Given the description of an element on the screen output the (x, y) to click on. 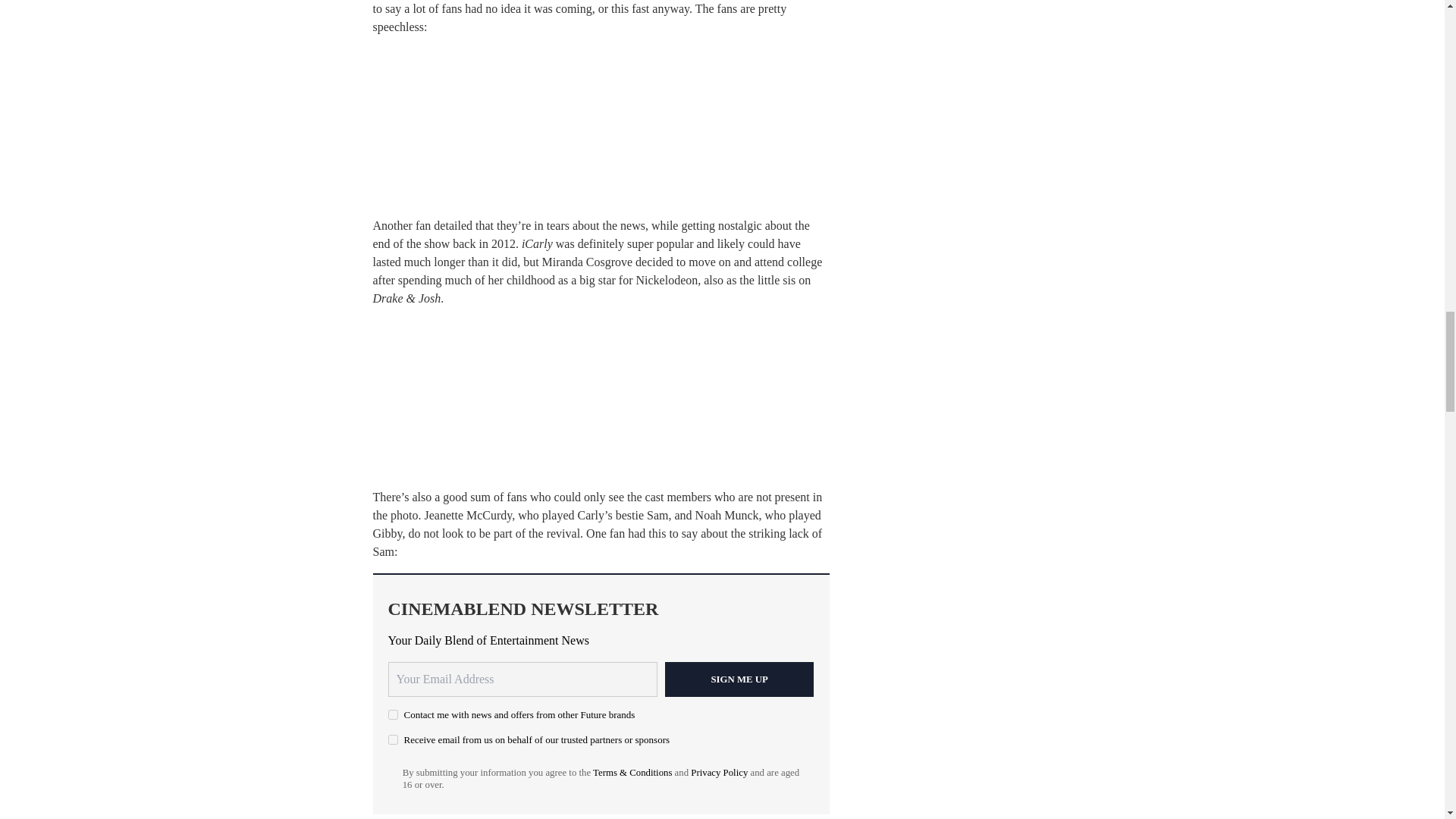
on (392, 739)
on (392, 714)
Sign me up (739, 678)
